Given the description of an element on the screen output the (x, y) to click on. 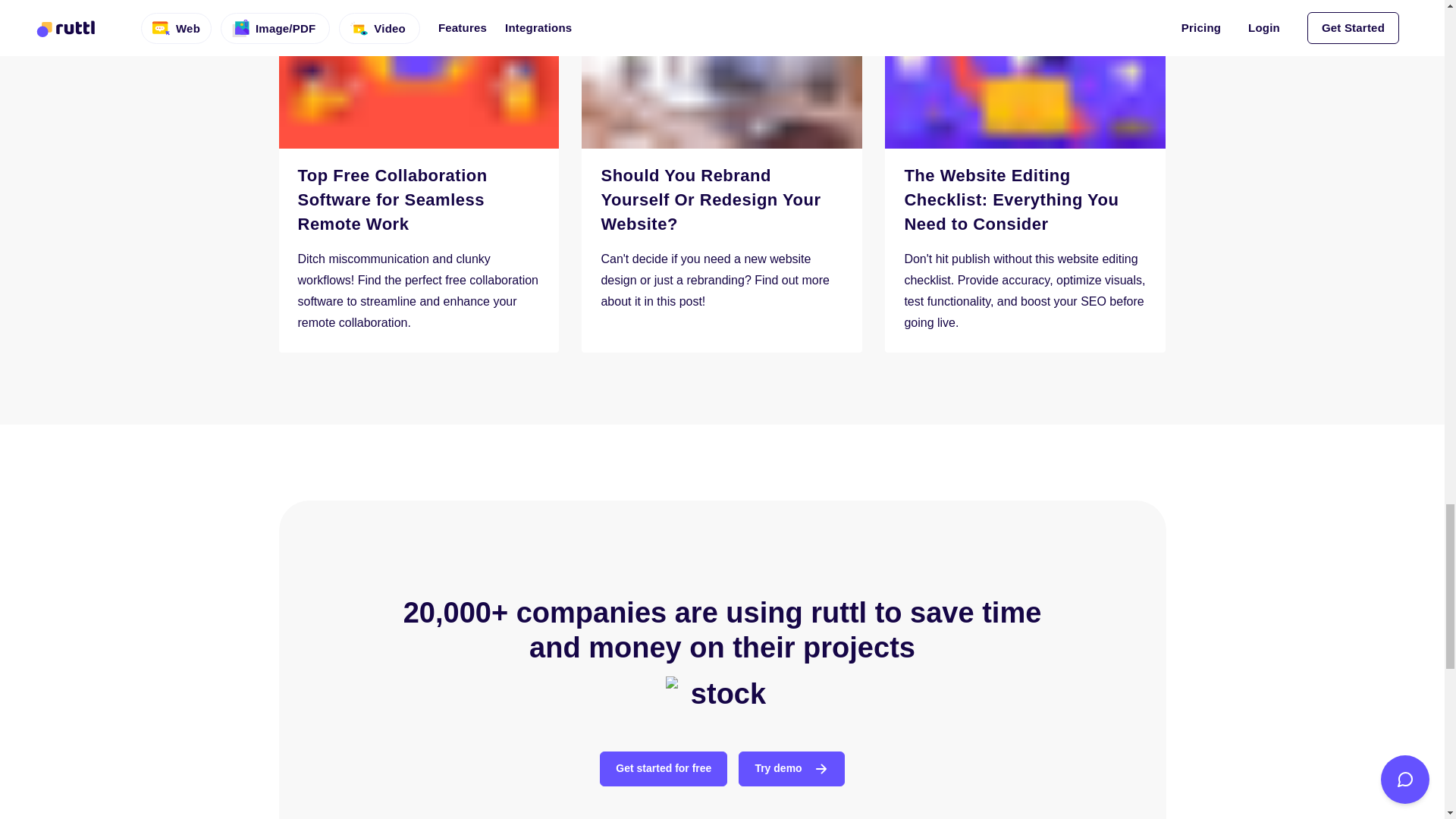
Try demo (791, 768)
Get started for free (662, 768)
stock images of people in a row (721, 693)
